Given the description of an element on the screen output the (x, y) to click on. 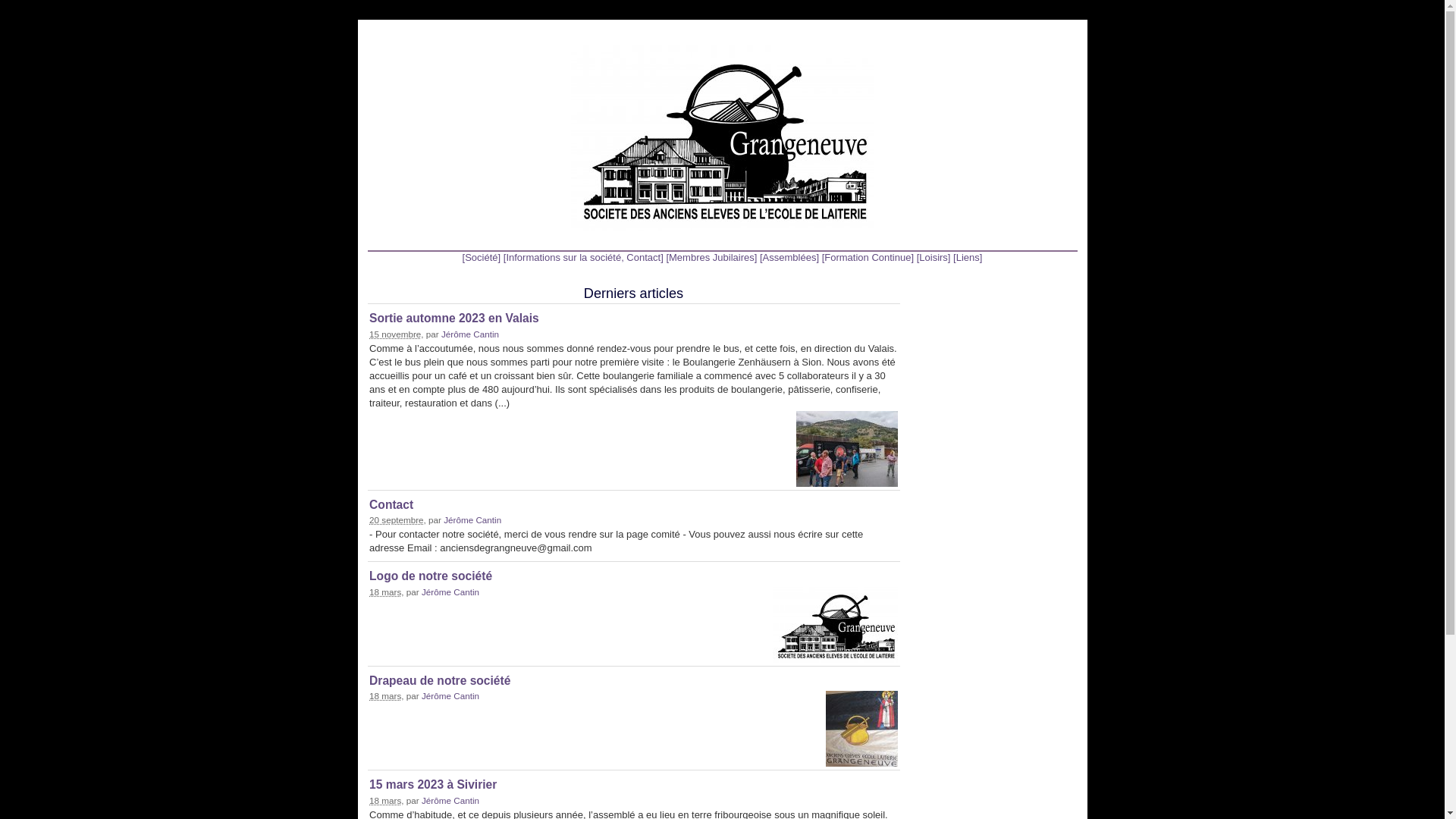
Sortie automne 2023 en Valais Element type: text (454, 317)
Contact Element type: text (391, 503)
[Loisirs] Element type: text (933, 257)
[Liens] Element type: text (967, 257)
[Membres Jubilaires] Element type: text (710, 257)
Accueil du site Element type: hover (721, 137)
[Formation Continue] Element type: text (867, 257)
